Given the description of an element on the screen output the (x, y) to click on. 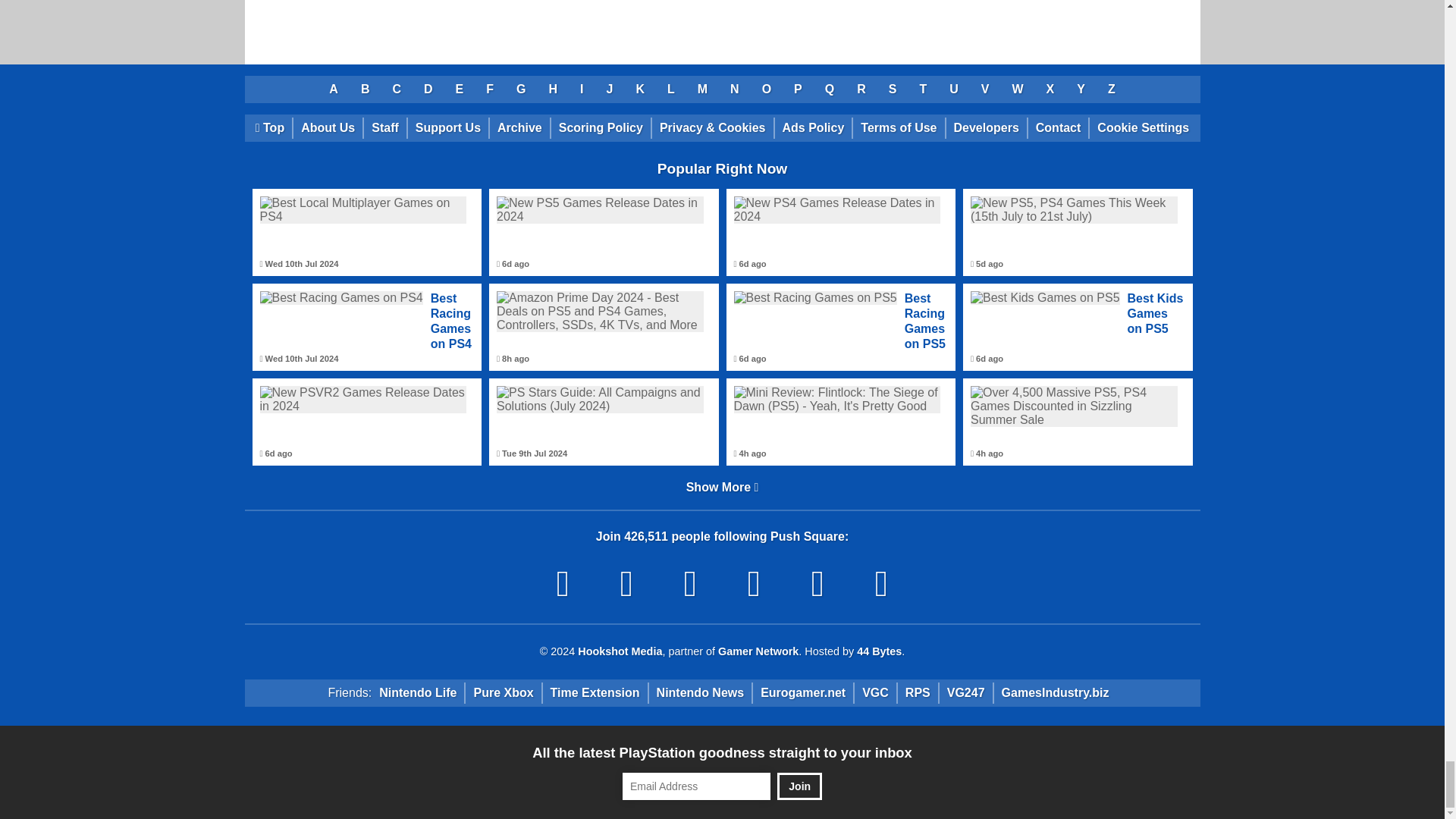
Join (799, 786)
